Given the description of an element on the screen output the (x, y) to click on. 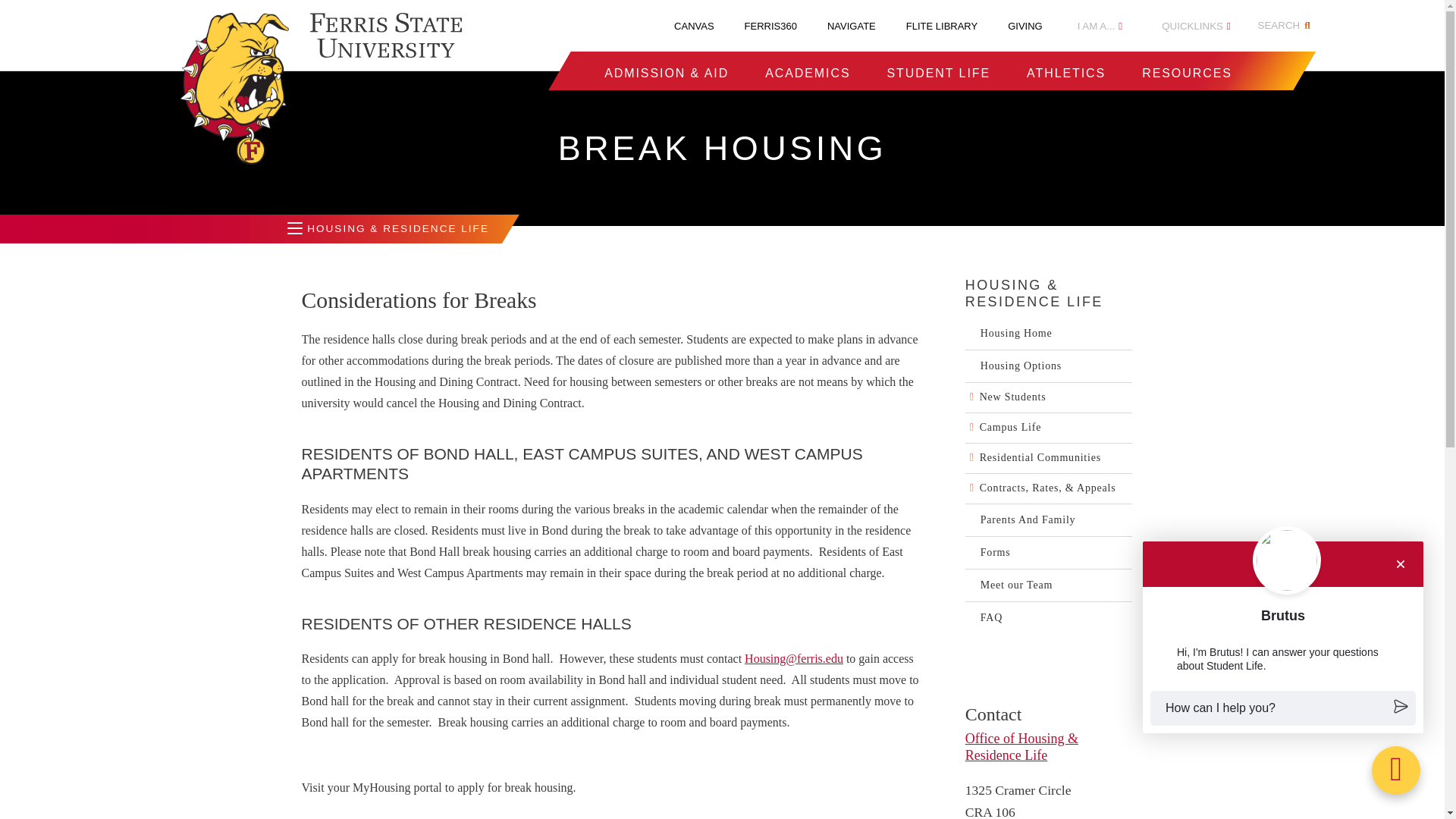
FLITE LIBRARY (940, 25)
CANVAS (694, 25)
NAVIGATE (851, 25)
SEARCH (1285, 25)
GIVING (1024, 25)
QUICKLINKS (1195, 26)
I AM A... (1099, 26)
FERRIS360 (770, 25)
